Given the description of an element on the screen output the (x, y) to click on. 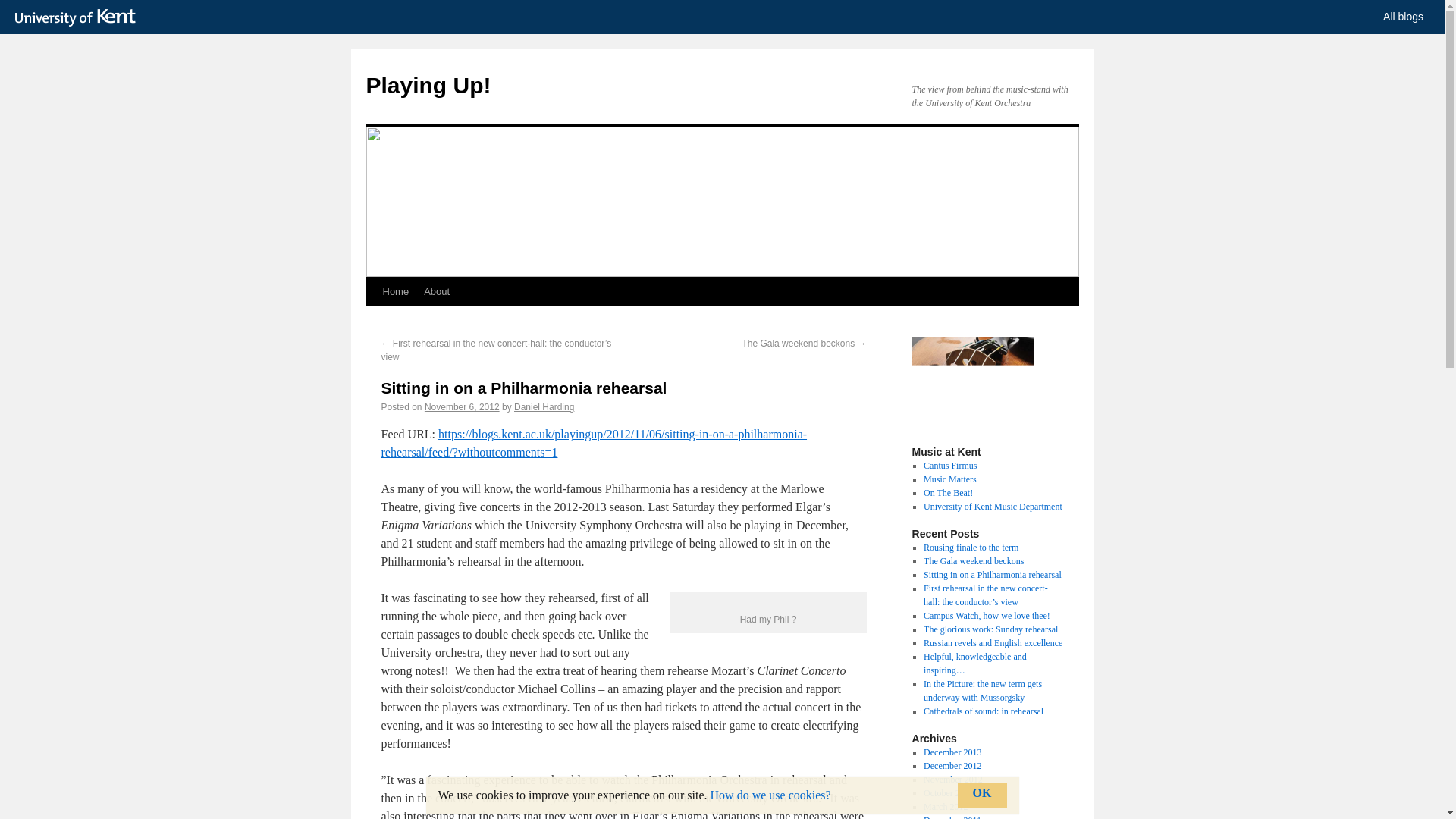
Rousing finale to the term (970, 547)
On The Beat! (947, 492)
All blogs (1403, 16)
Playing Up! (427, 84)
12:19 pm (462, 407)
Home (395, 291)
Music Matters (949, 479)
The Gala weekend beckons (973, 561)
View all posts by Daniel Harding (543, 407)
December 2013 (952, 751)
Playing Up! (427, 84)
Russian revels and English excellence (992, 643)
University of Kent website homepage (78, 18)
Daniel Harding (543, 407)
University of Kent Music Department (992, 506)
